Given the description of an element on the screen output the (x, y) to click on. 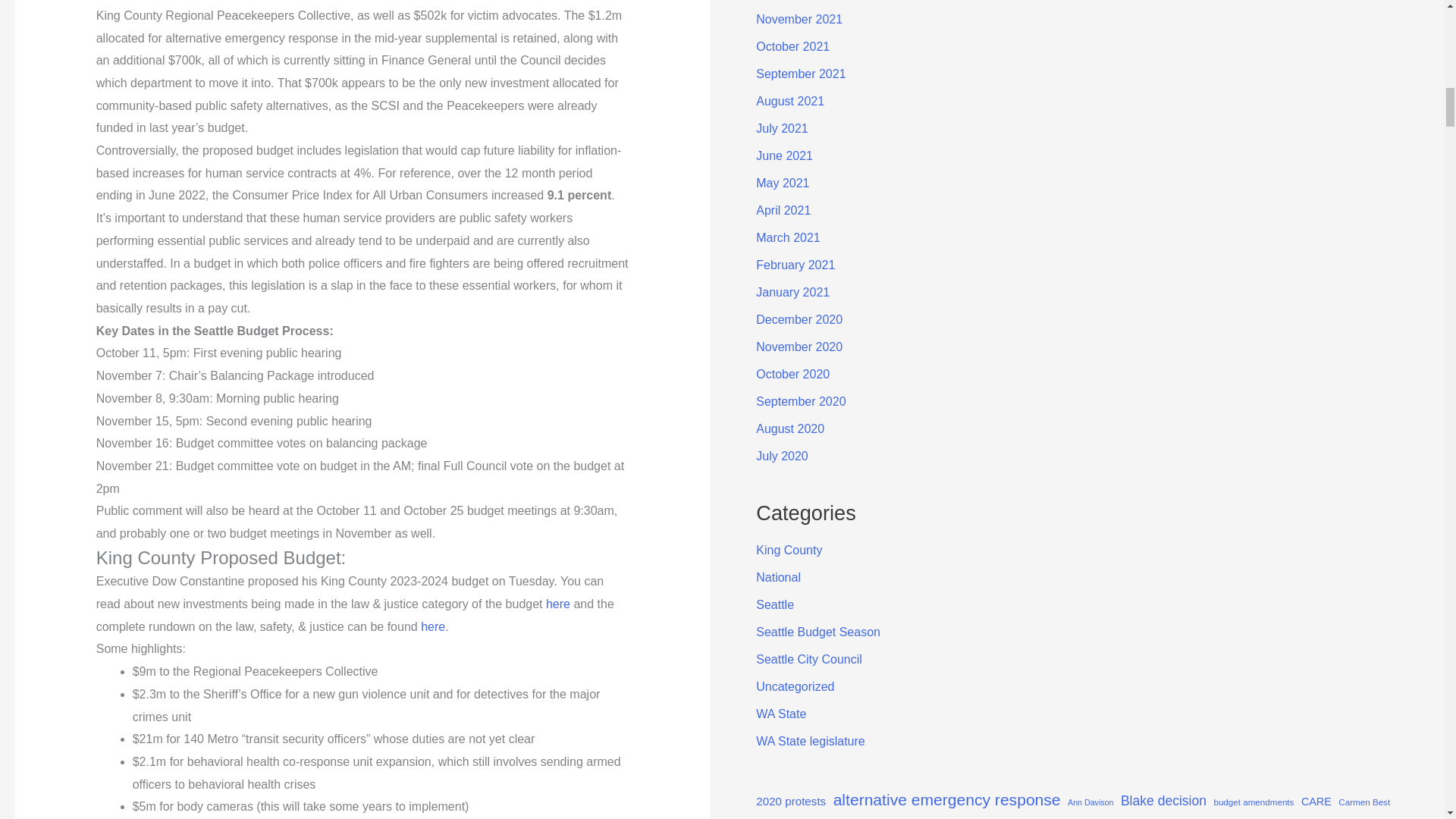
here (558, 603)
here (432, 626)
